Given the description of an element on the screen output the (x, y) to click on. 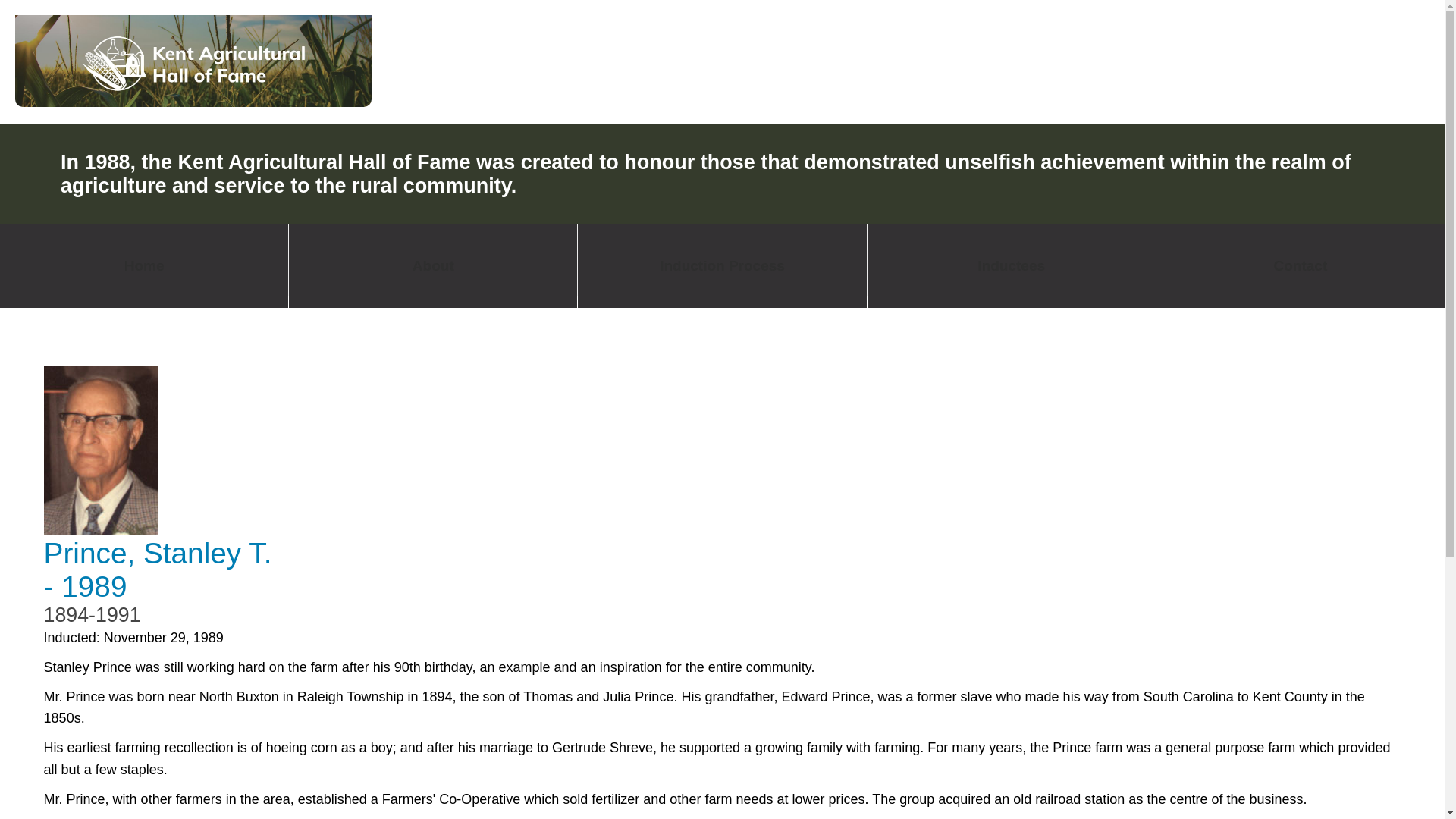
Inductees (1011, 265)
Home (144, 265)
Induction Process (722, 265)
About (432, 265)
